Given the description of an element on the screen output the (x, y) to click on. 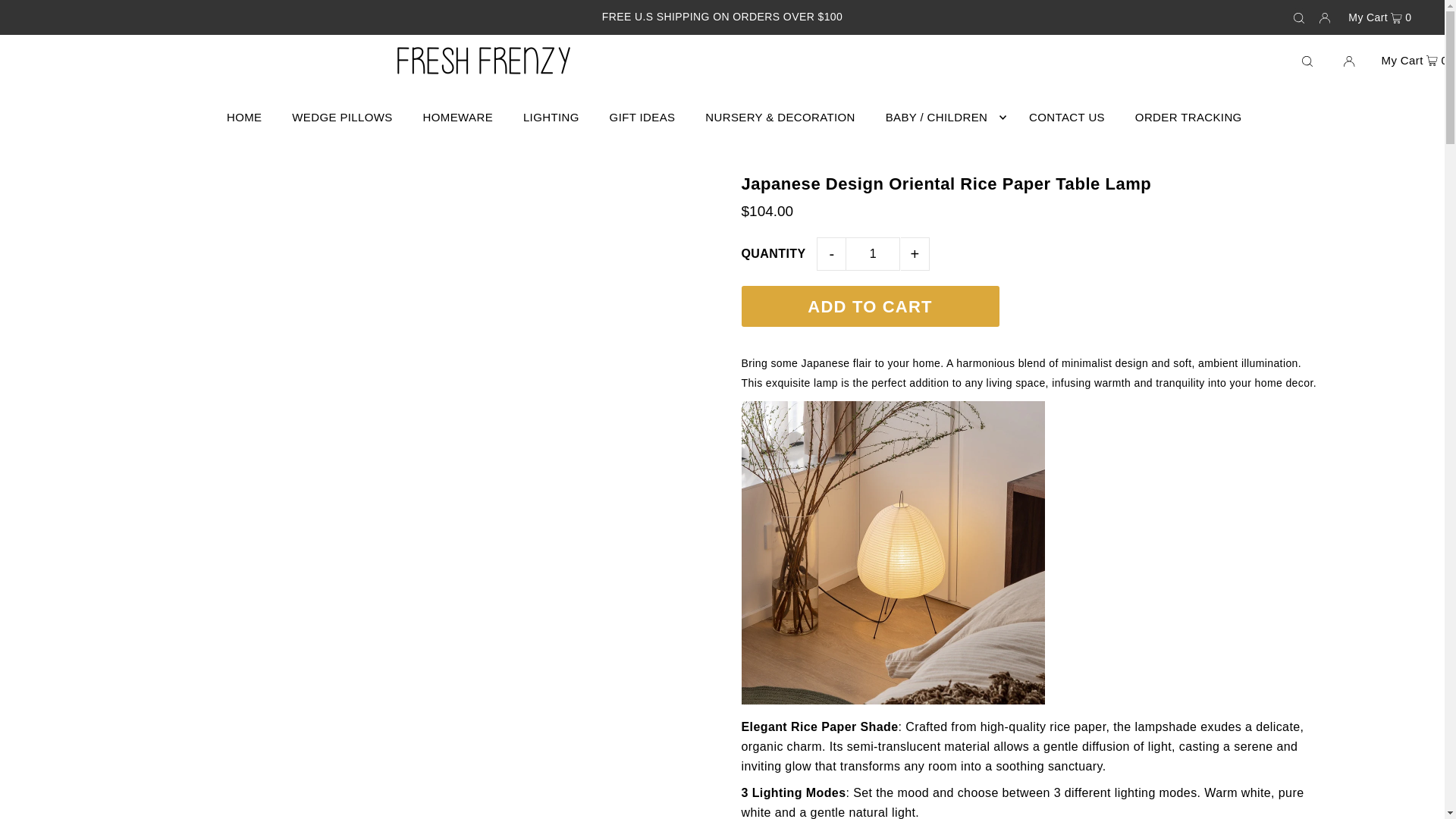
WEDGE PILLOWS (340, 117)
1 (872, 254)
HOME (244, 117)
Add to Cart (869, 305)
GIFT IDEAS (642, 117)
LIGHTING (550, 117)
HOMEWARE (457, 117)
